Given the description of an element on the screen output the (x, y) to click on. 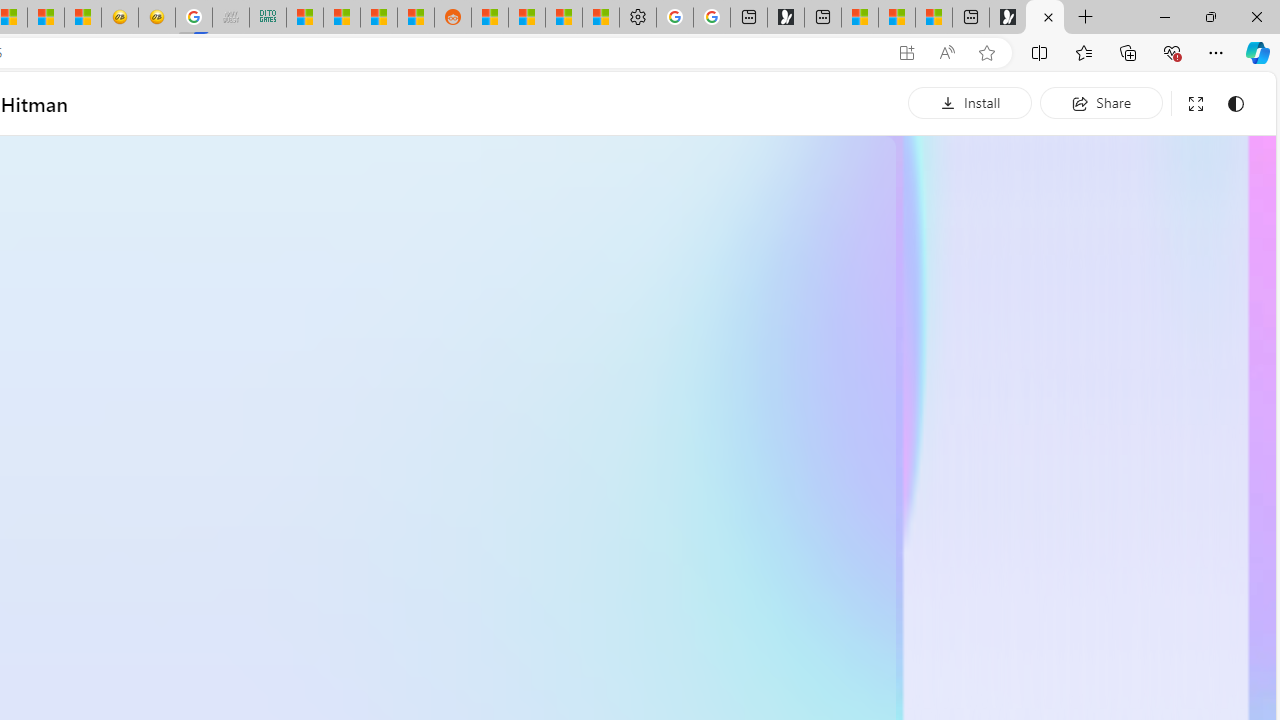
New tab (971, 17)
Navy Quest (230, 17)
R******* | Trusted Community Engagement and Contributions (490, 17)
Share (1101, 102)
These 3 Stocks Pay You More Than 5% to Own Them (934, 17)
Microsoft Start Gaming (785, 17)
Favorites (1083, 52)
Full screen (1195, 103)
MSN (415, 17)
